Given the description of an element on the screen output the (x, y) to click on. 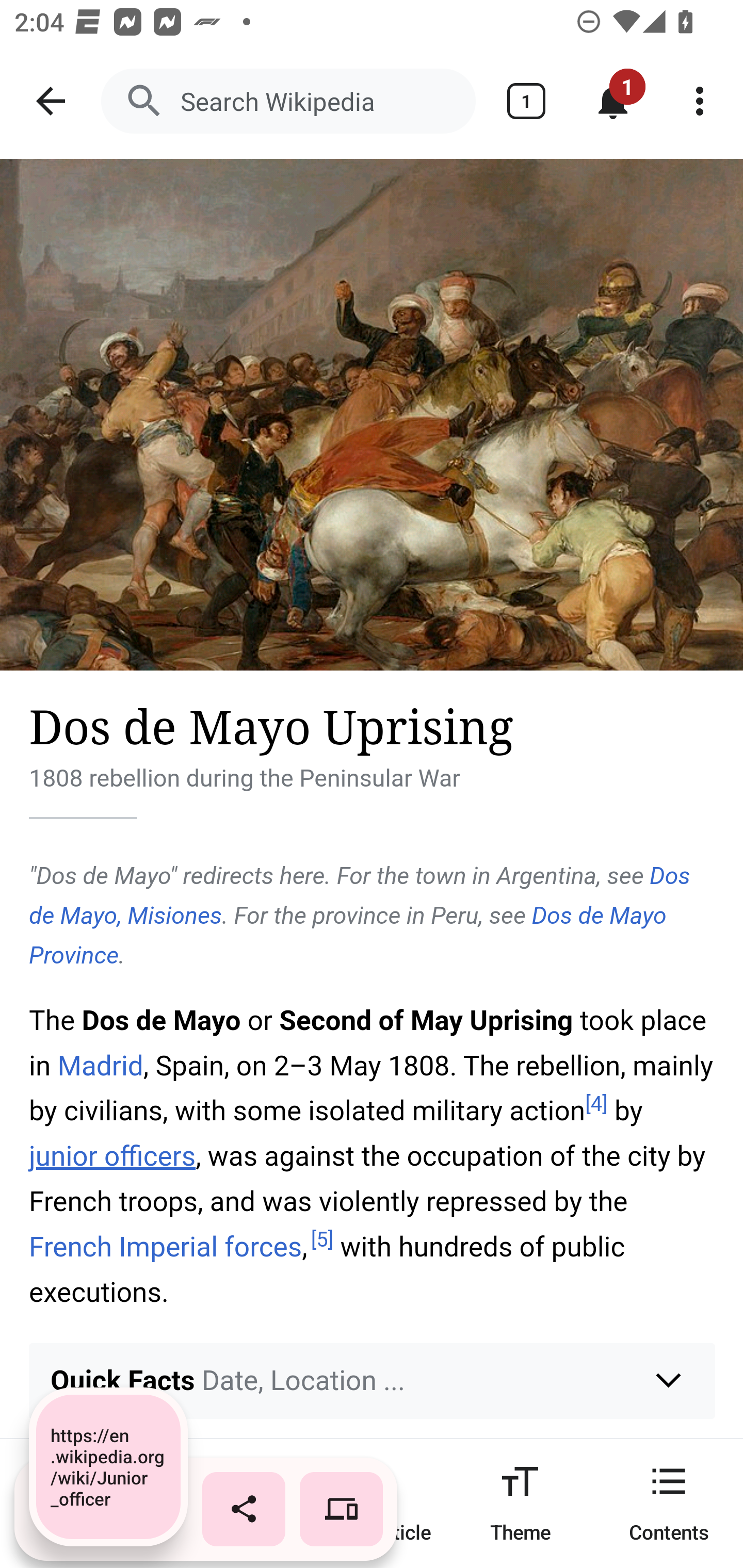
Show tabs 1 (525, 100)
Notifications 1 (612, 100)
Navigate up (50, 101)
More options (699, 101)
Search Wikipedia (288, 100)
Image: Dos de Mayo Uprising (371, 414)
Dos de Mayo, Misiones (359, 895)
Madrid (99, 1065)
[] [ 4 ] (596, 1102)
junior officers (112, 1155)
[] [ 5 ] (321, 1239)
French Imperial forces (165, 1246)
Quick Facts  Date, Location ... Expand table (372, 1380)
Find in article (371, 1502)
Theme (519, 1502)
Contents (668, 1502)
